Given the description of an element on the screen output the (x, y) to click on. 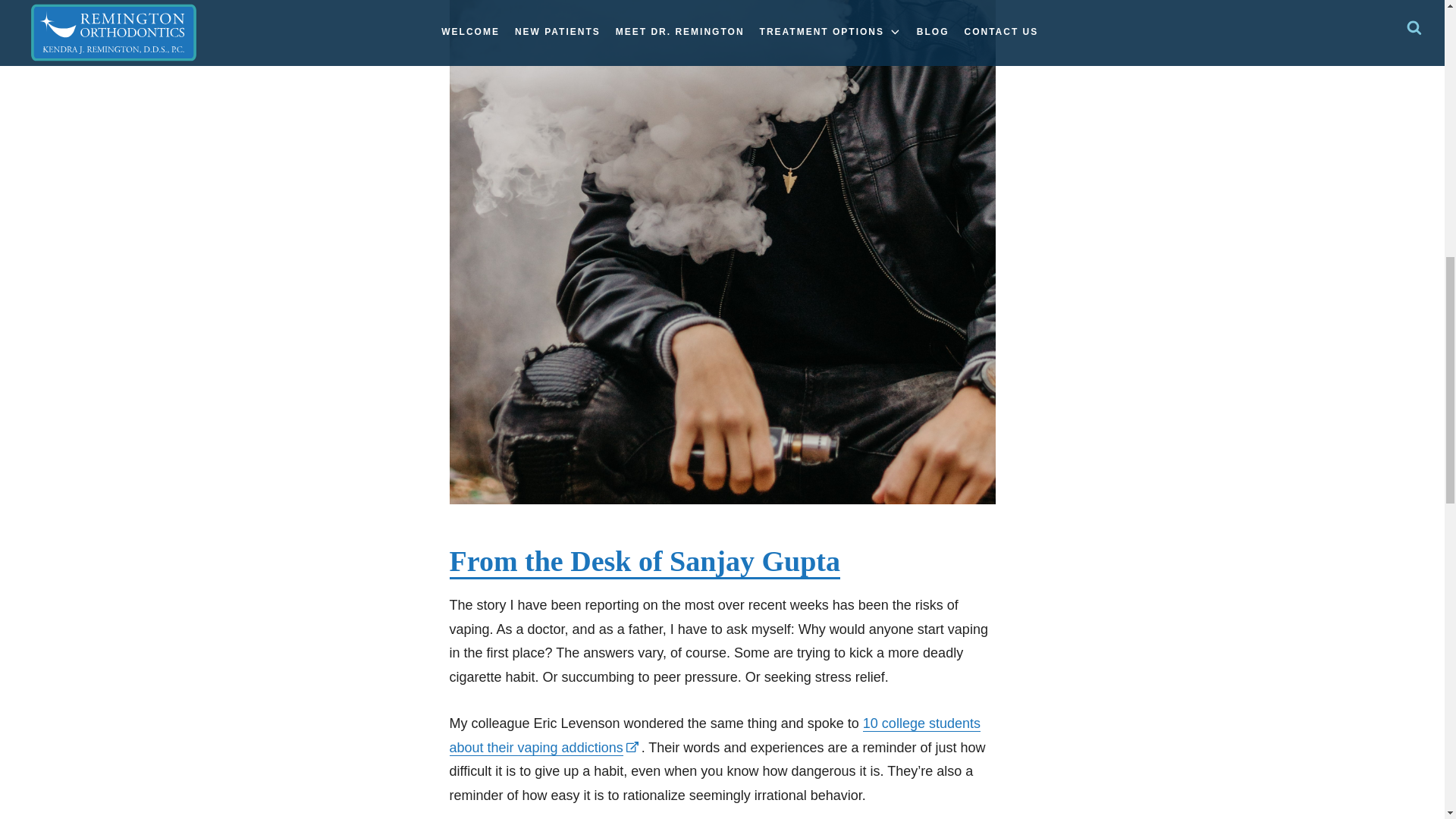
From the Desk of Sanjay Gupta (644, 562)
10 college students about their vaping addictions (713, 735)
